Given the description of an element on the screen output the (x, y) to click on. 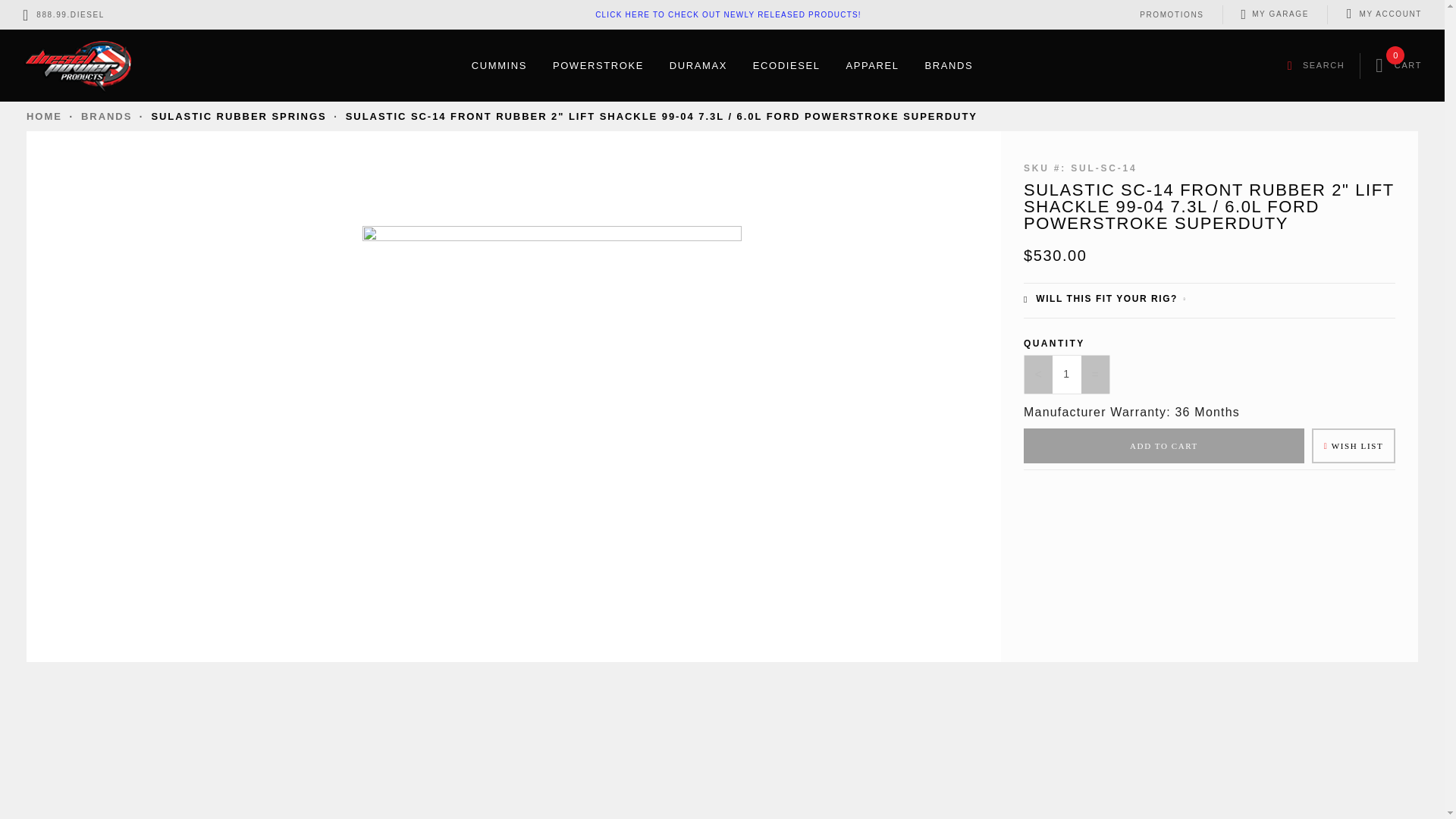
 PROMOTIONS (1170, 12)
CLICK HERE TO CHECK OUT NEWLY RELEASED PRODUCTS! (728, 14)
Sulastic SC-14 Front Rubber 2 (661, 116)
Diesel Power Products (77, 64)
CUMMINS (499, 65)
Home (45, 116)
MY ACCOUNT (1390, 14)
Brands (108, 116)
MY GARAGE (1274, 14)
1 (1066, 373)
888.99.DIESEL (70, 13)
Sulastic Rubber Springs (240, 116)
